Given the description of an element on the screen output the (x, y) to click on. 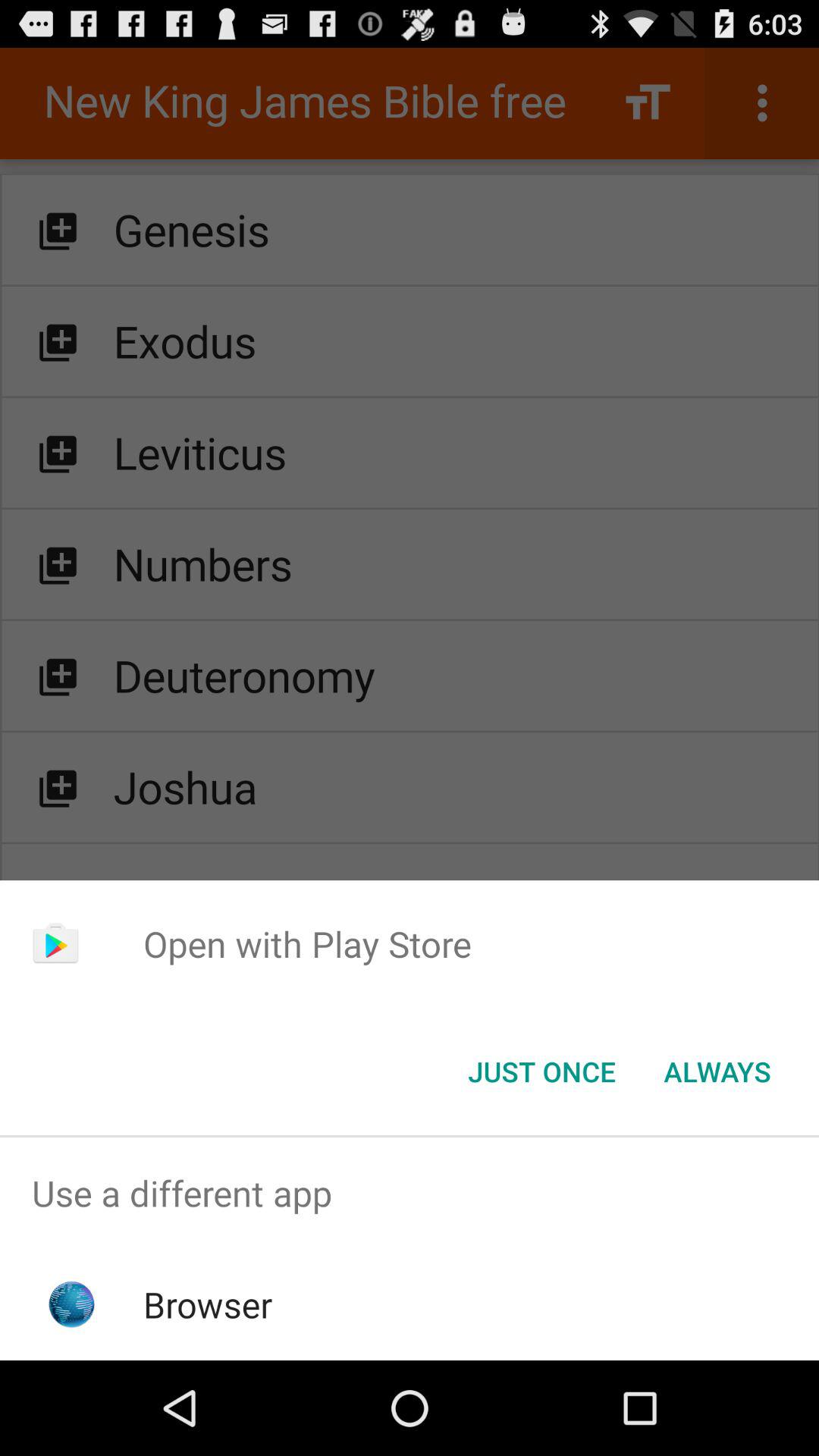
swipe until always (717, 1071)
